Given the description of an element on the screen output the (x, y) to click on. 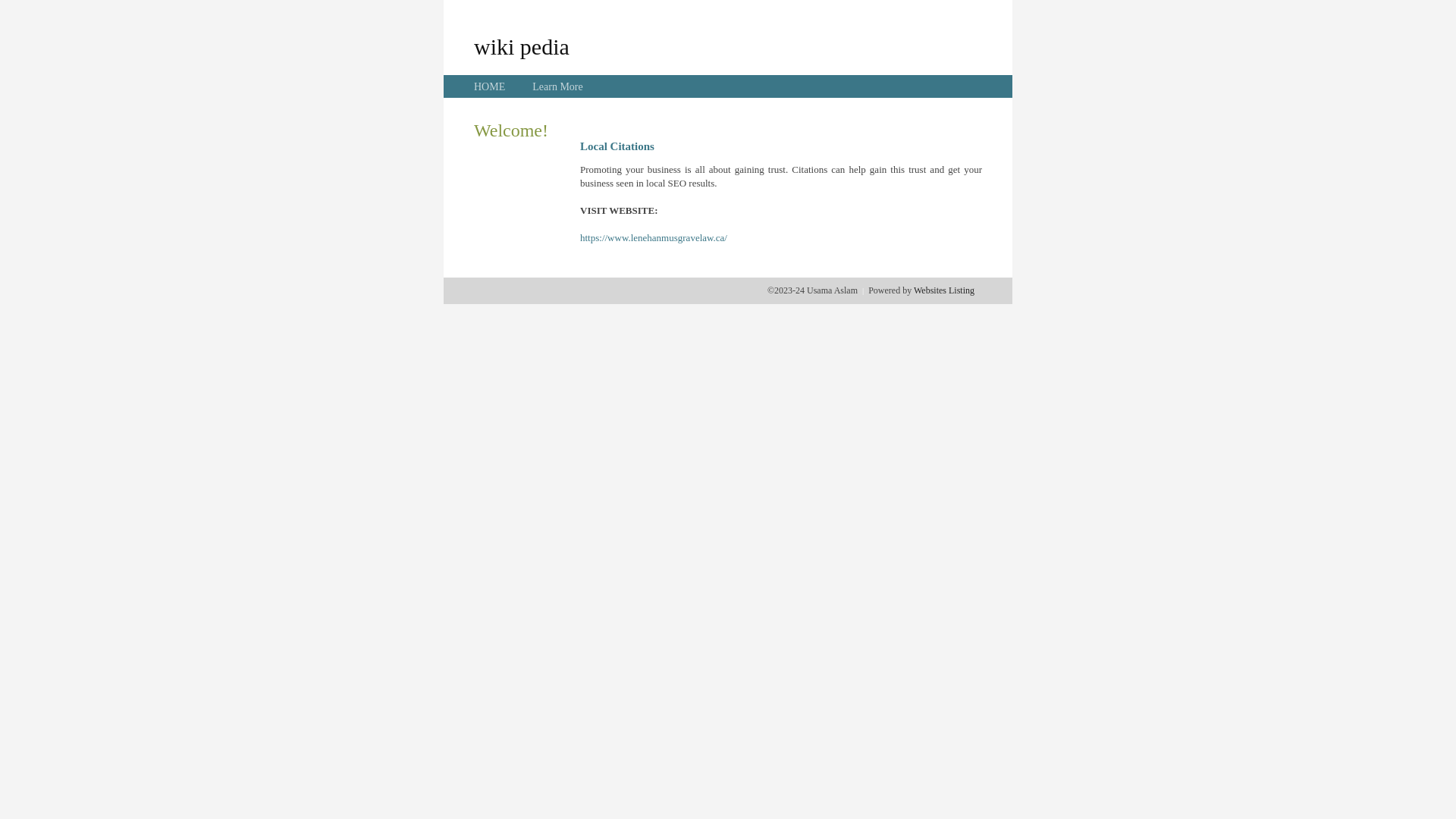
https://www.lenehanmusgravelaw.ca/ Element type: text (653, 237)
Websites Listing Element type: text (943, 290)
wiki pedia Element type: text (521, 46)
Learn More Element type: text (557, 86)
HOME Element type: text (489, 86)
